Given the description of an element on the screen output the (x, y) to click on. 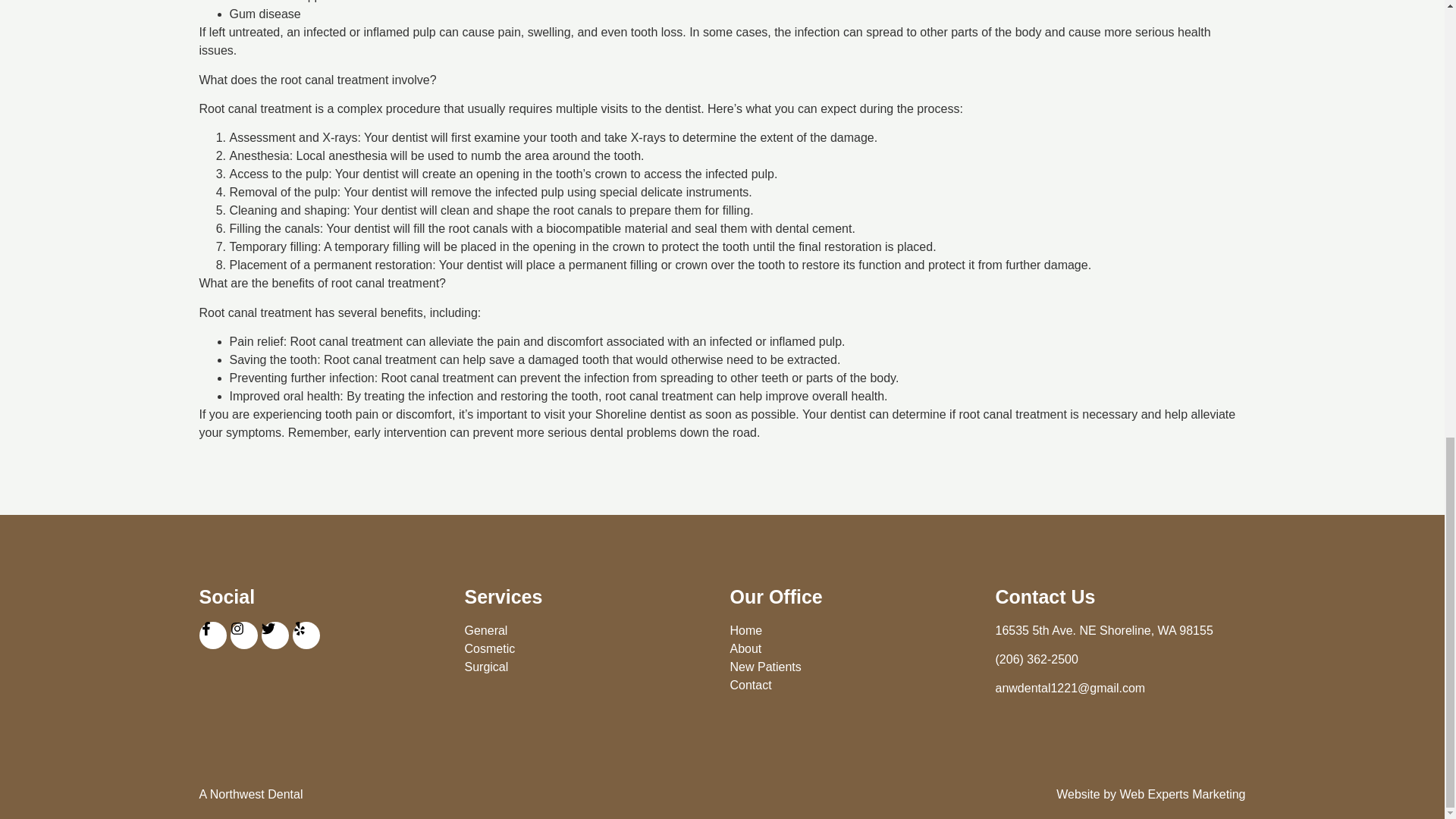
About (854, 648)
New Patients (854, 667)
Home (854, 630)
Contact (854, 685)
